Given the description of an element on the screen output the (x, y) to click on. 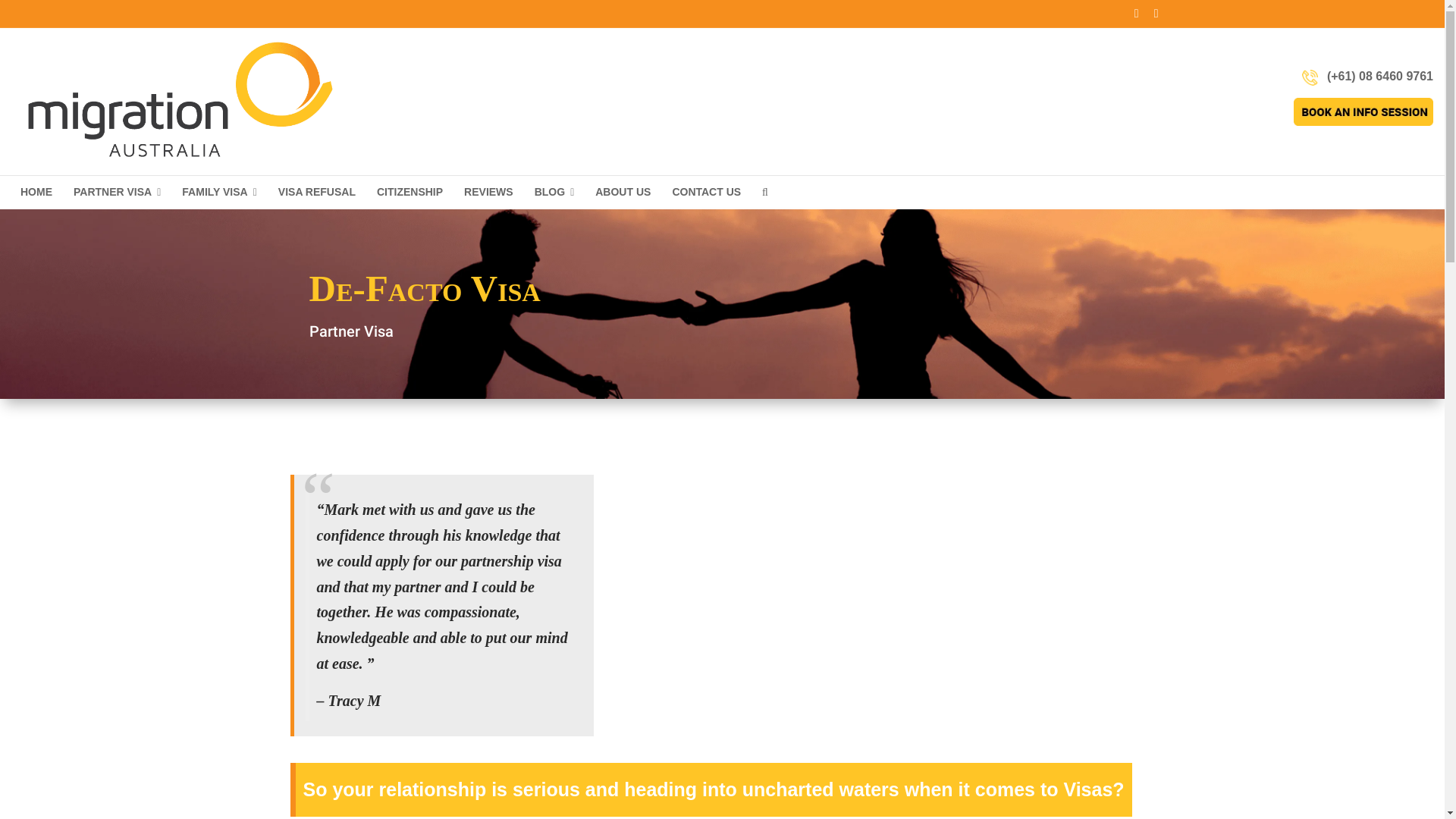
HOME Element type: text (36, 191)
PARTNER VISA Element type: text (116, 192)
REVIEWS Element type: text (488, 191)
FAMILY VISA Element type: text (219, 192)
VISA REFUSAL Element type: text (316, 191)
(+61) 08 6460 9761 Element type: text (1378, 76)
ABOUT US Element type: text (622, 191)
BLOG Element type: text (554, 192)
CITIZENSHIP Element type: text (409, 191)
CONTACT US Element type: text (705, 191)
